Given the description of an element on the screen output the (x, y) to click on. 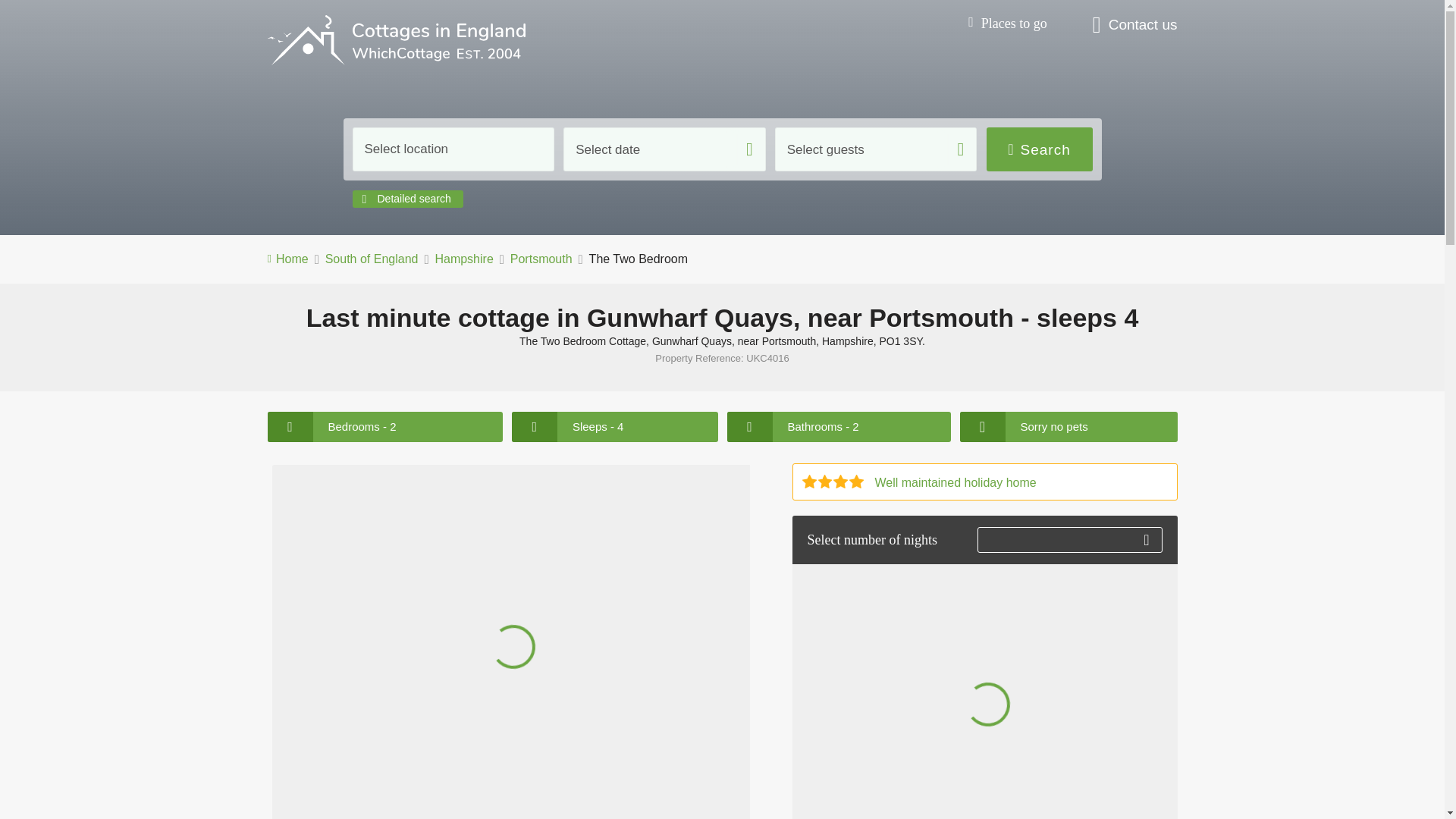
Places to go (1007, 23)
Contact us (1135, 25)
